Given the description of an element on the screen output the (x, y) to click on. 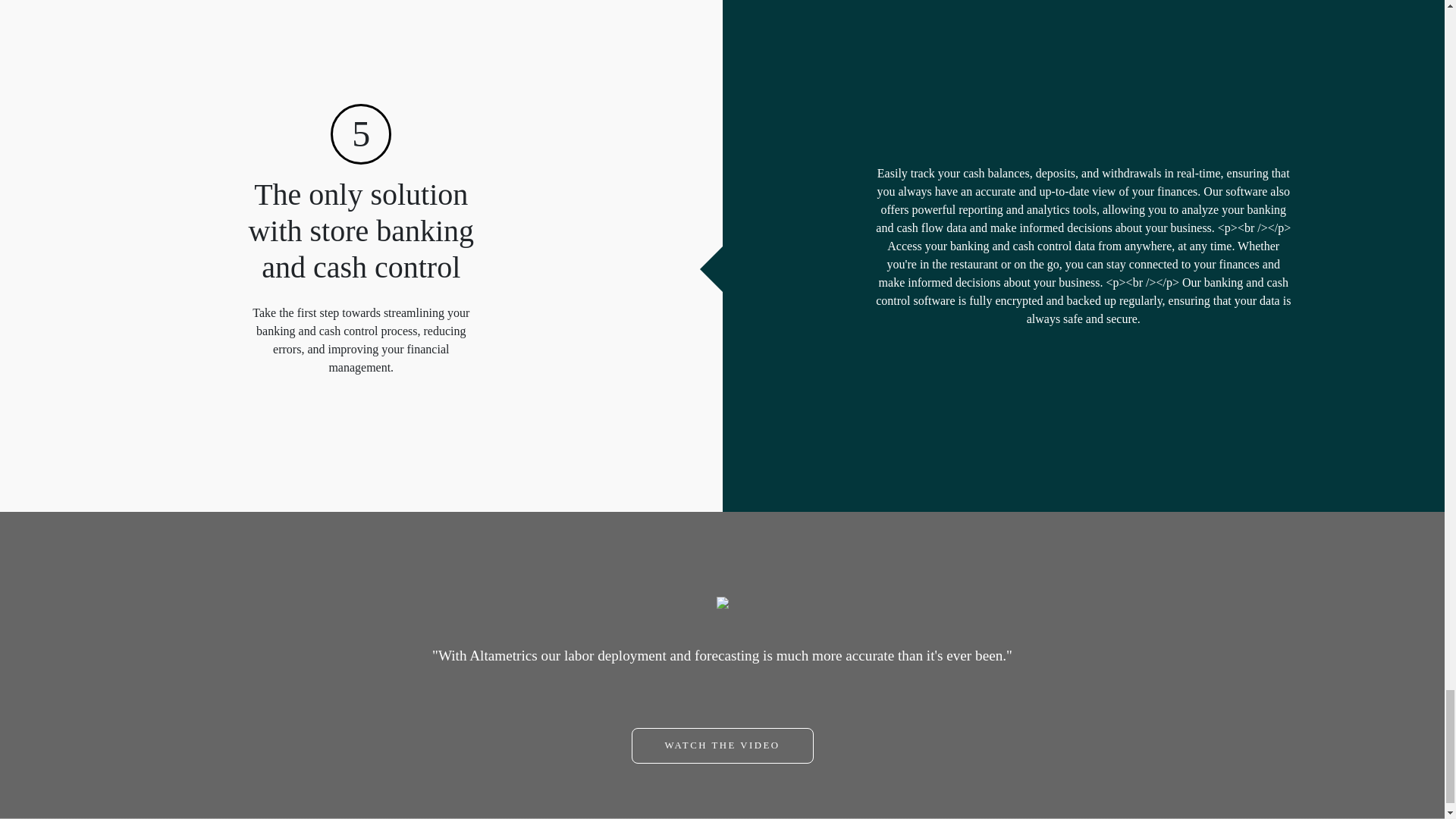
WATCH THE VIDEO (721, 745)
